Given the description of an element on the screen output the (x, y) to click on. 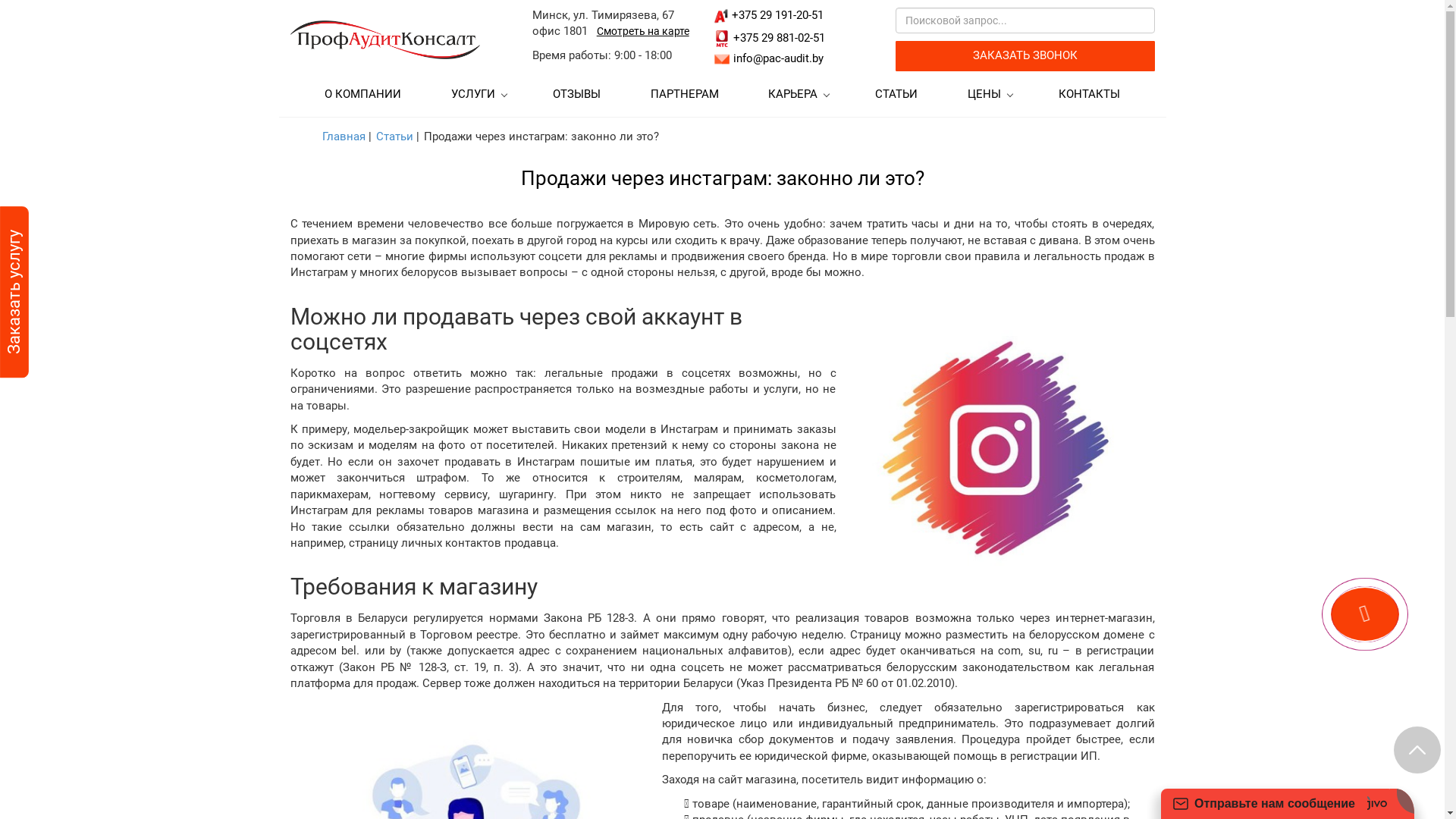
info@pac-audit.by Element type: text (778, 58)
+375 29 191-20-51 Element type: text (777, 14)
+375 29 881-02-51 Element type: text (779, 37)
pac-audit.by Element type: hover (384, 39)
